Given the description of an element on the screen output the (x, y) to click on. 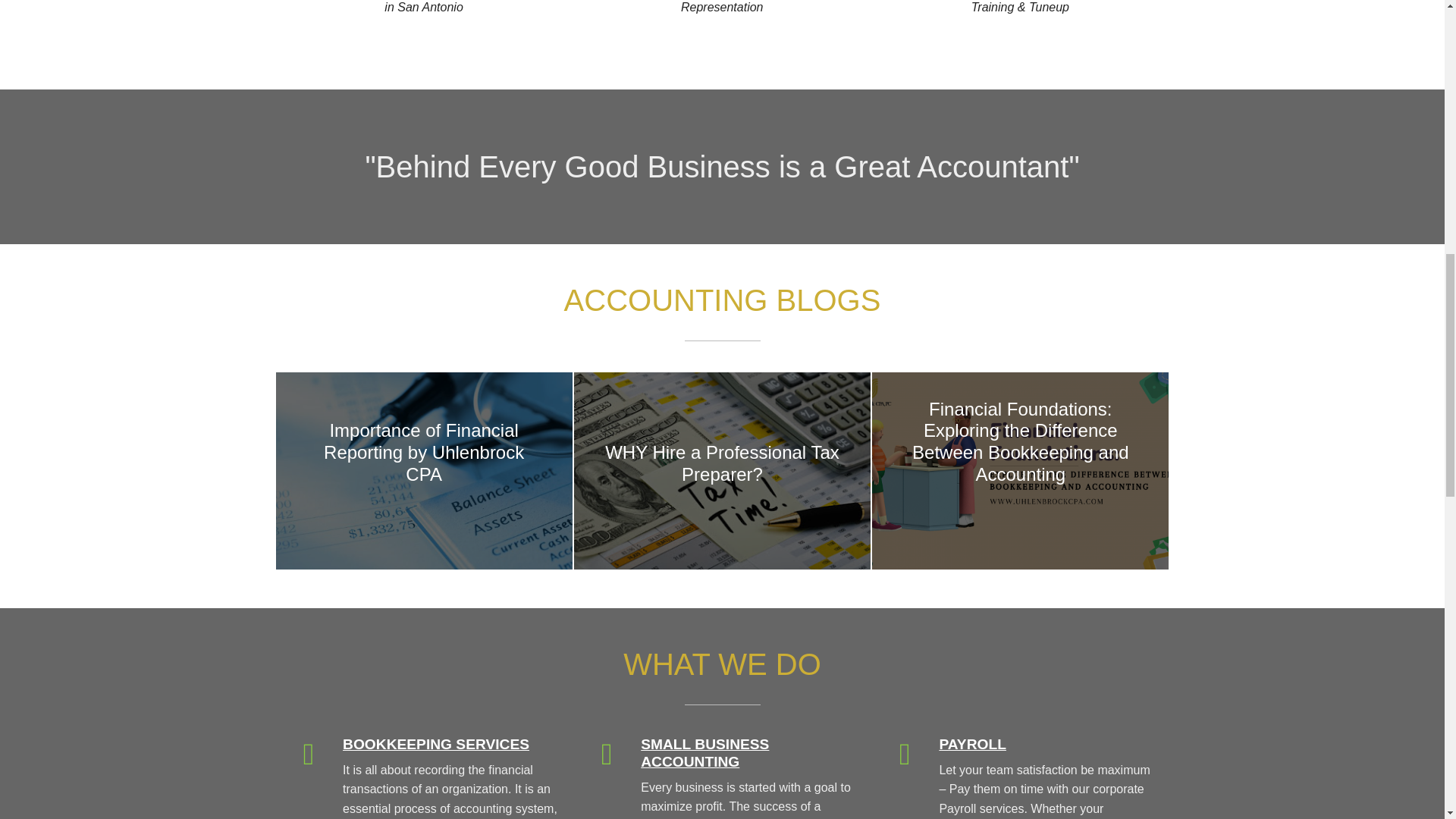
BOOKKEEPING SERVICES (435, 744)
SMALL BUSINESS ACCOUNTING (704, 752)
Importance of Financial Reporting by Uhlenbrock CPA (424, 470)
WHY Hire a Professional Tax Preparer? (721, 470)
PAYROLL (972, 744)
